Given the description of an element on the screen output the (x, y) to click on. 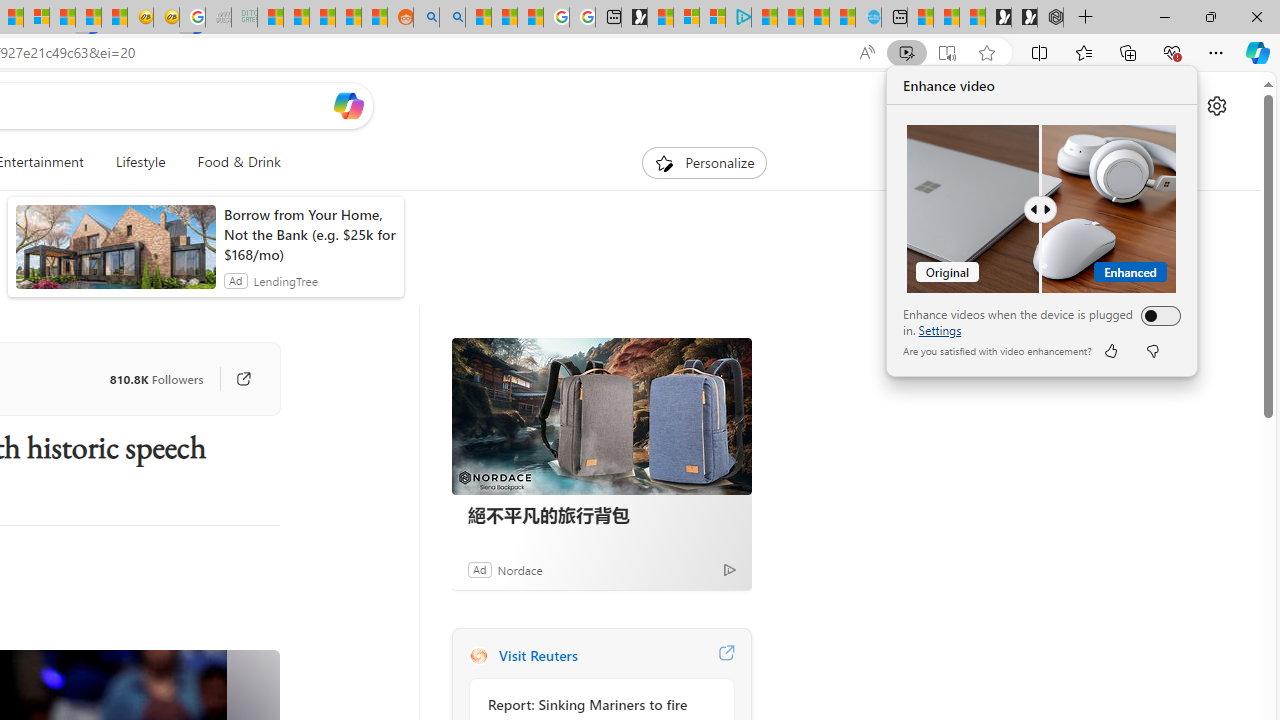
Utah sues federal government - Search (452, 17)
Go to publisher's site (233, 378)
Enhance videos (1156, 316)
Reuters (478, 655)
